Given the description of an element on the screen output the (x, y) to click on. 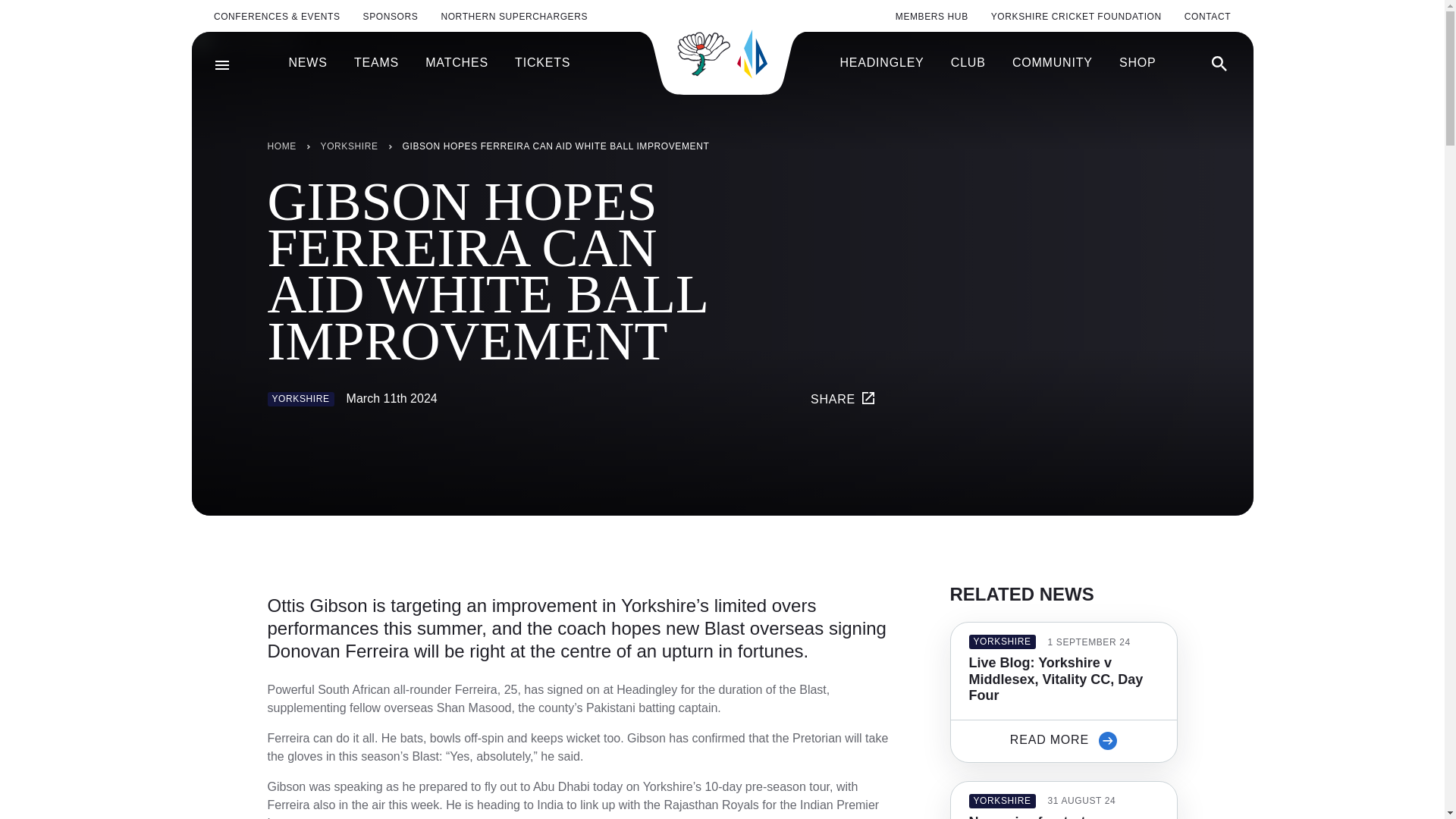
SPONSORS (390, 16)
CONTACT (1207, 16)
MEMBERS HUB (931, 16)
NEWS (307, 62)
TICKETS (542, 62)
HEADINGLEY (881, 62)
TEAMS (375, 62)
Yorkshire County Cricket Club (721, 53)
YORKSHIRE CRICKET FOUNDATION (1076, 16)
MATCHES (456, 62)
